Given the description of an element on the screen output the (x, y) to click on. 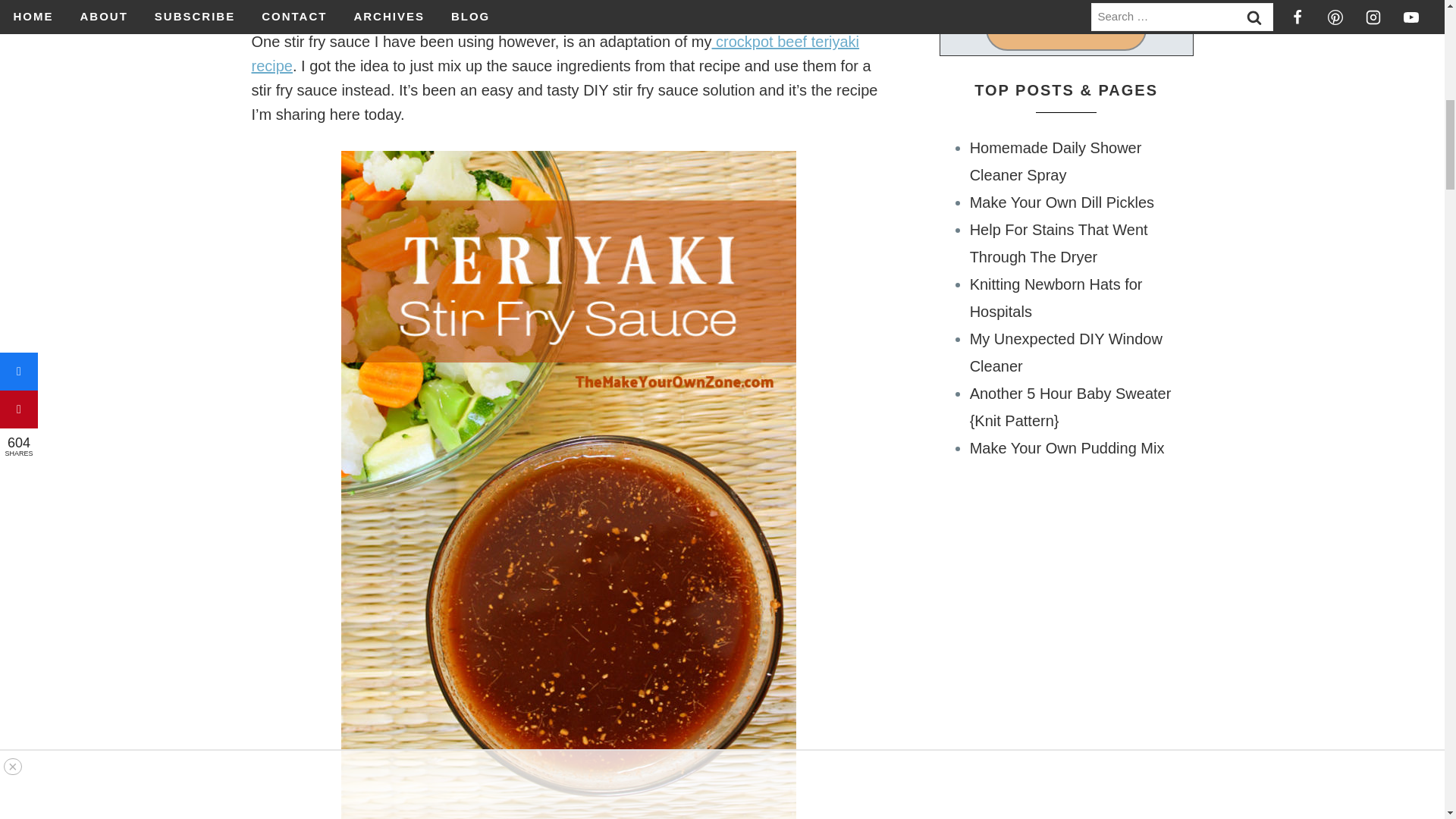
Sign Up Now (1065, 28)
